Given the description of an element on the screen output the (x, y) to click on. 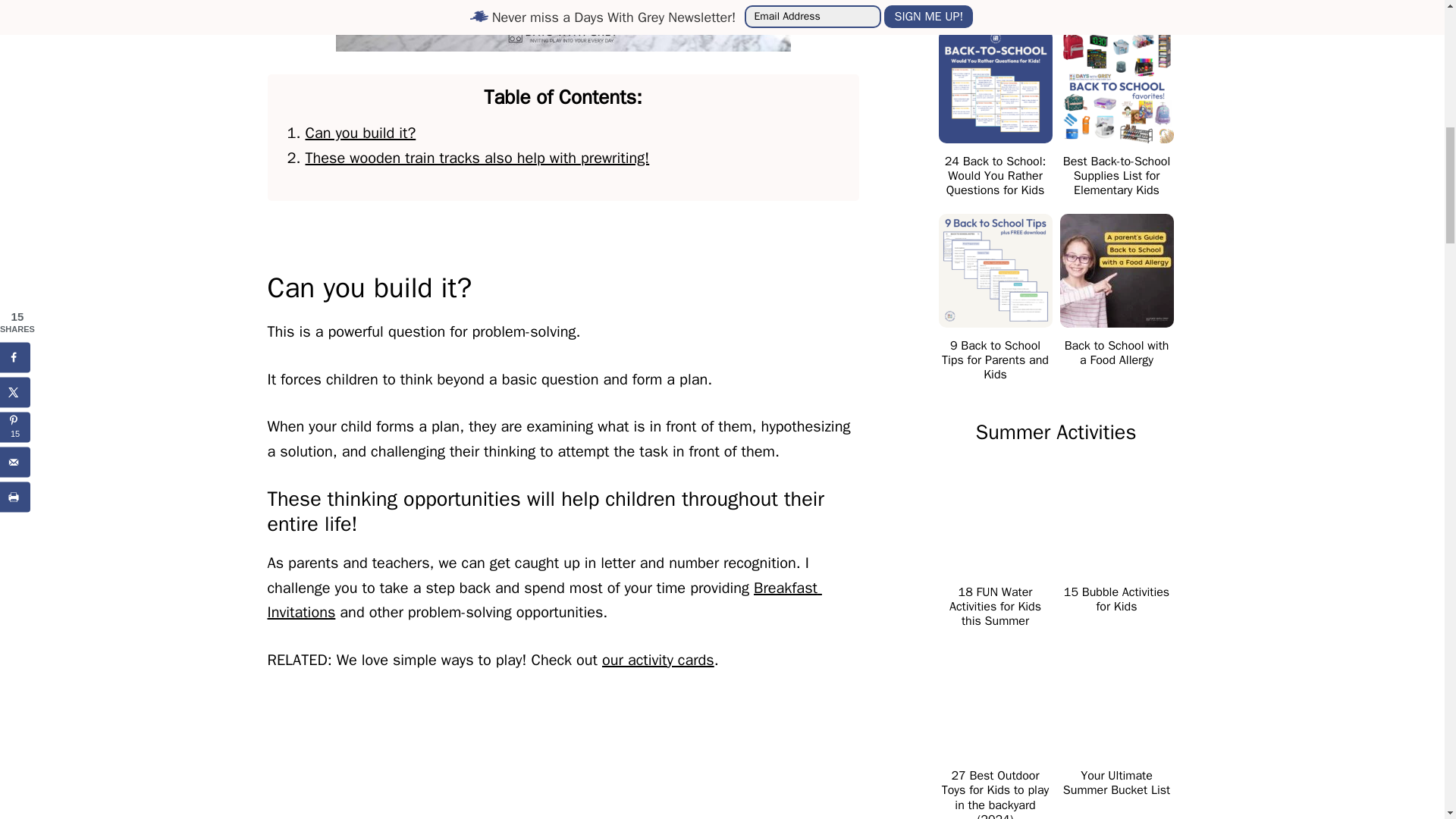
These wooden train tracks also help with prewriting! (476, 157)
Can you build it? (359, 132)
Breakfast Invitations (543, 600)
our activity cards (658, 659)
